Given the description of an element on the screen output the (x, y) to click on. 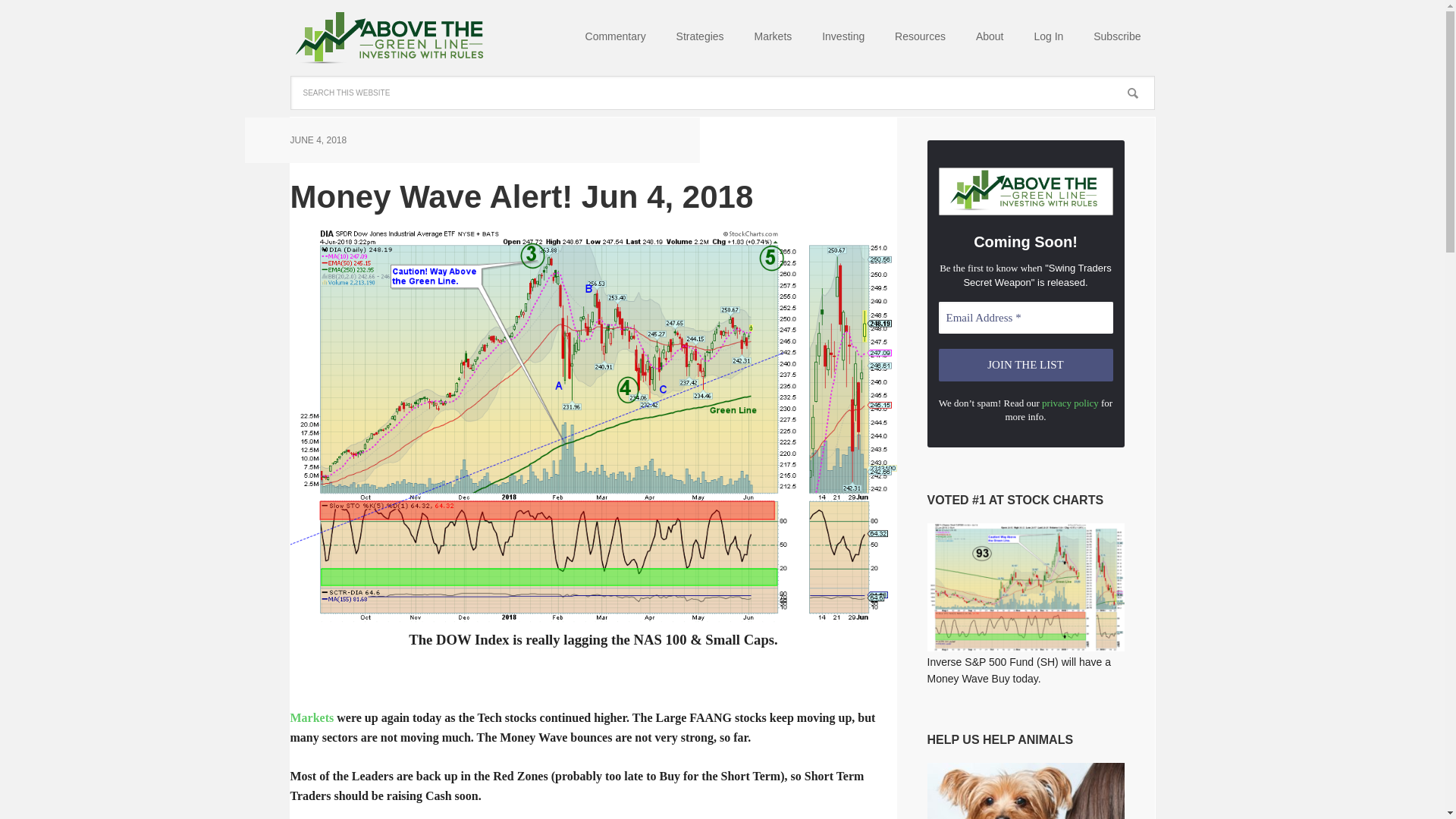
JOIN THE LIST (1026, 364)
Commentary (615, 37)
Email Address (1026, 318)
Strategies (700, 37)
Above The Green Line (387, 38)
